Given the description of an element on the screen output the (x, y) to click on. 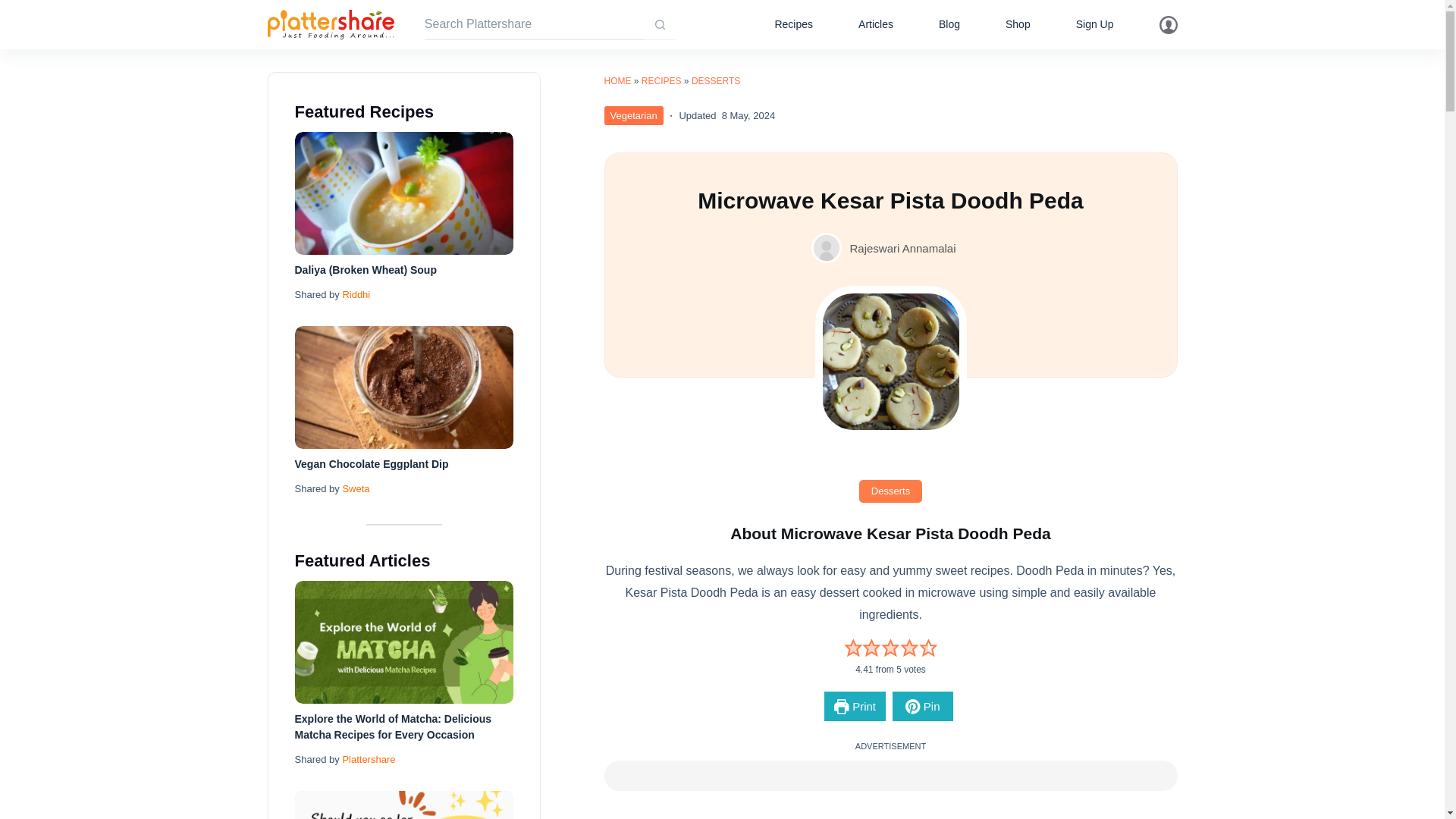
HOME (617, 81)
Rajeswari Annamalai (901, 247)
Sign Up (1094, 24)
Print (854, 706)
Pin (922, 706)
Shop (1017, 24)
Desserts (890, 490)
Vegetarian (633, 115)
Recipes (793, 24)
Blog (948, 24)
Skip to content (15, 7)
Search for... (535, 24)
RECIPES (661, 81)
